Given the description of an element on the screen output the (x, y) to click on. 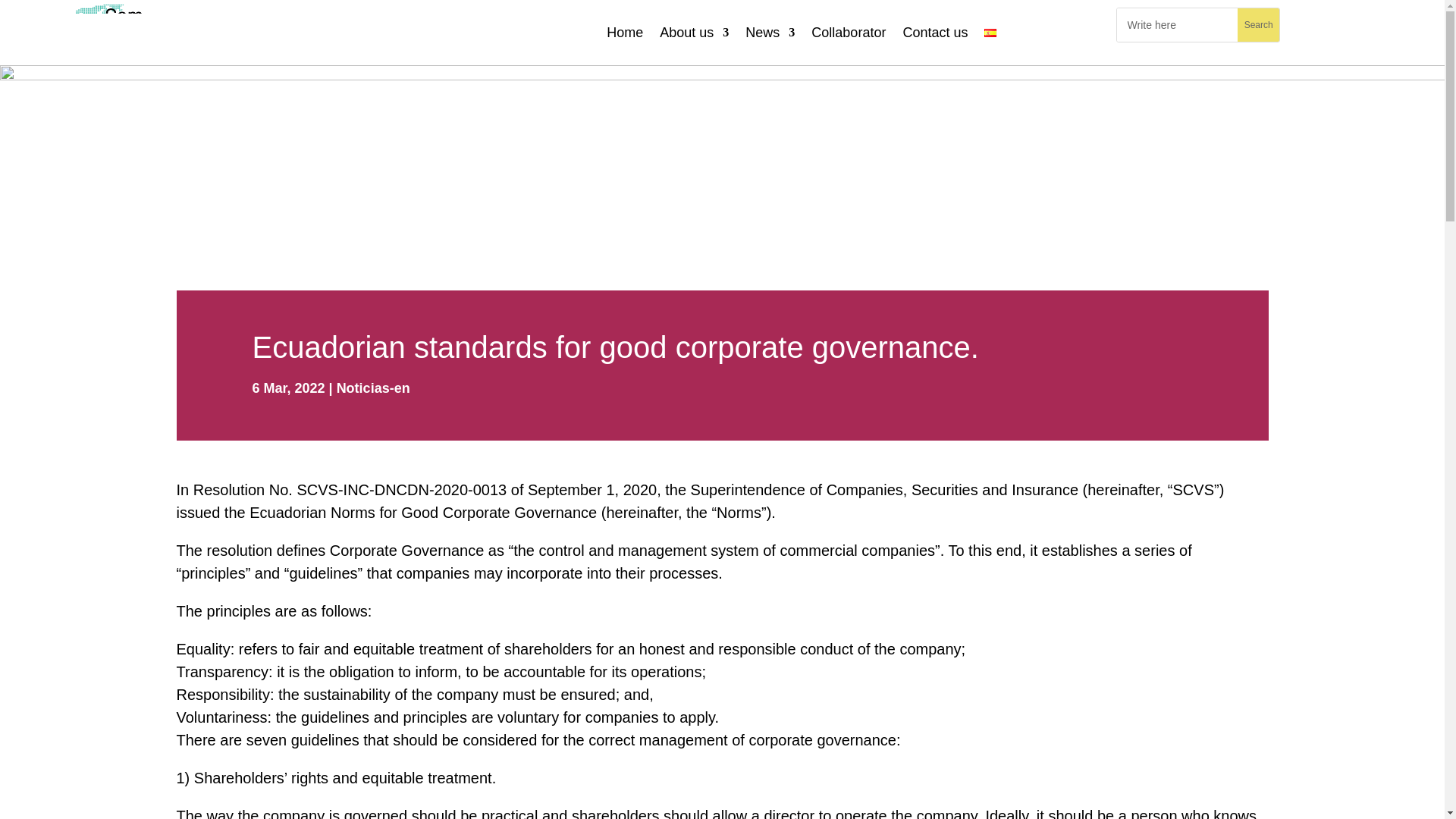
About us (694, 32)
Search (1258, 24)
Contact us (935, 32)
Search (1258, 24)
Search (1258, 24)
Collaborator (847, 32)
Noticias-en (373, 387)
